Given the description of an element on the screen output the (x, y) to click on. 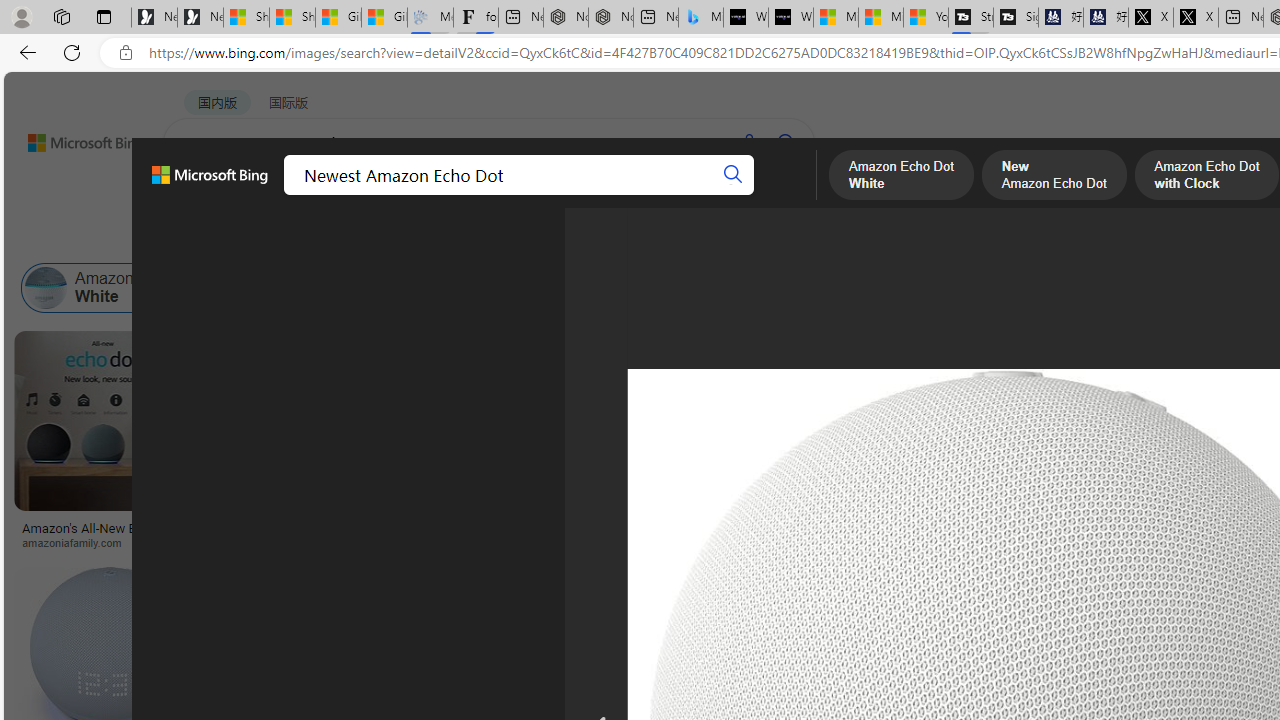
ACADEMIC (548, 195)
Image result for Newest Amazon Echo Dot (1064, 466)
Review: Amazon Echo Dot (5th Gen-2022 edition) (591, 528)
Amazon Echo Dot Black (970, 287)
Amazon Echo Dot Black (893, 287)
DICT (630, 195)
Amazon Echo Dot with Clock (546, 287)
parade.com (316, 542)
People (520, 237)
Type (373, 237)
